Given the description of an element on the screen output the (x, y) to click on. 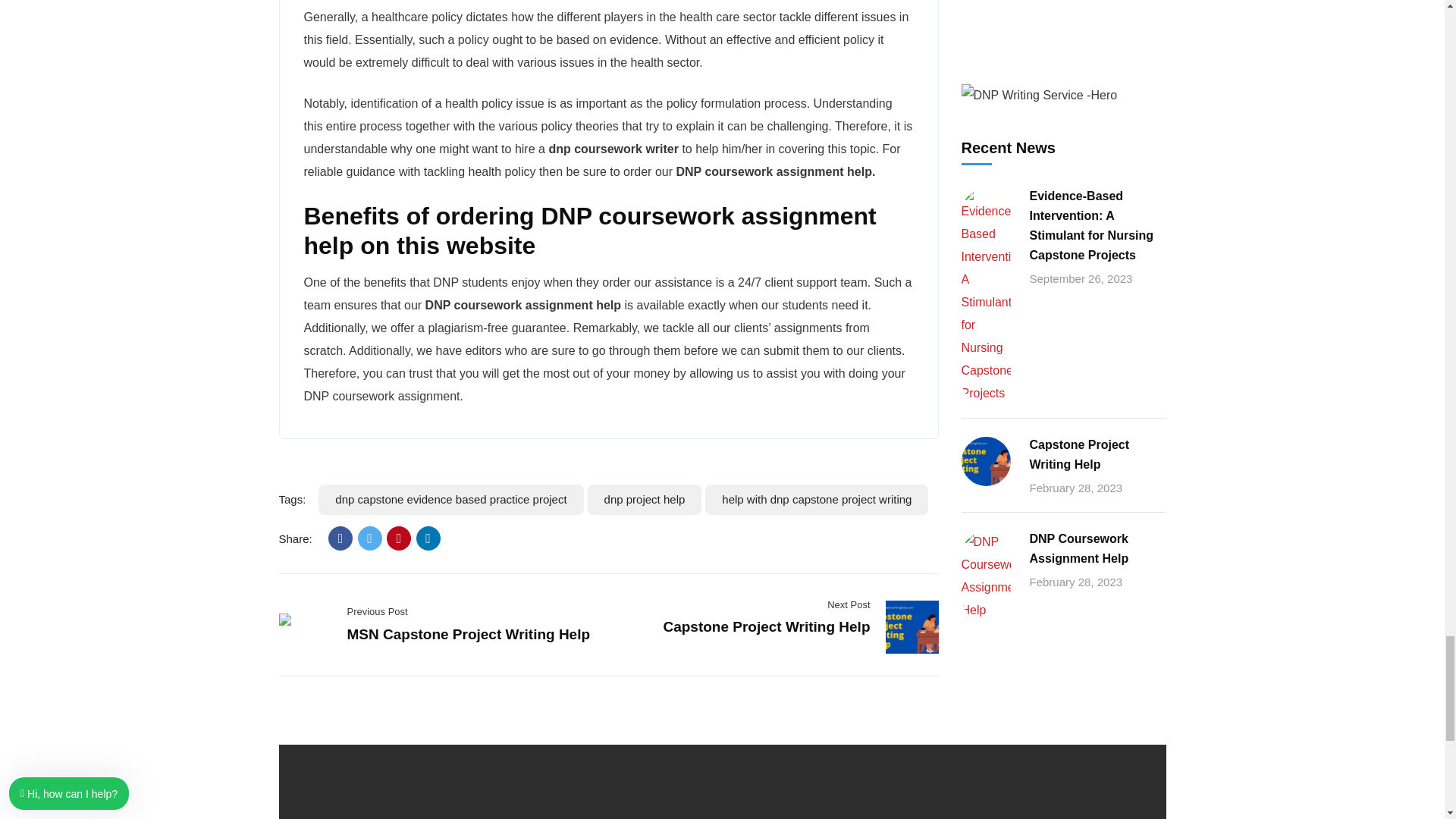
LinkedIn (428, 538)
Facebook (340, 538)
Twitter (369, 538)
Pinterest (398, 538)
